Given the description of an element on the screen output the (x, y) to click on. 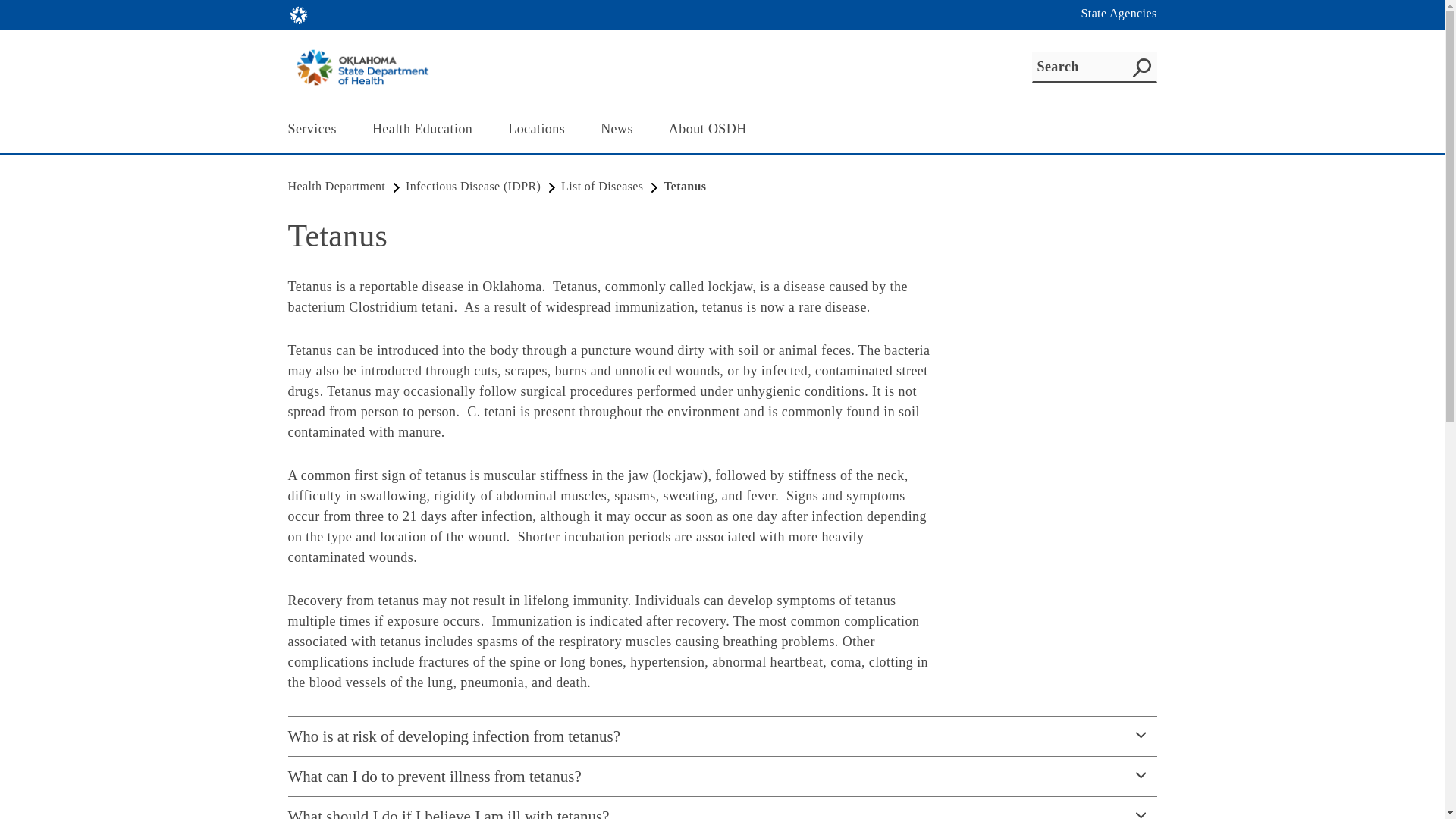
State Agencies (1119, 13)
Oklahoma.gov (298, 14)
